Given the description of an element on the screen output the (x, y) to click on. 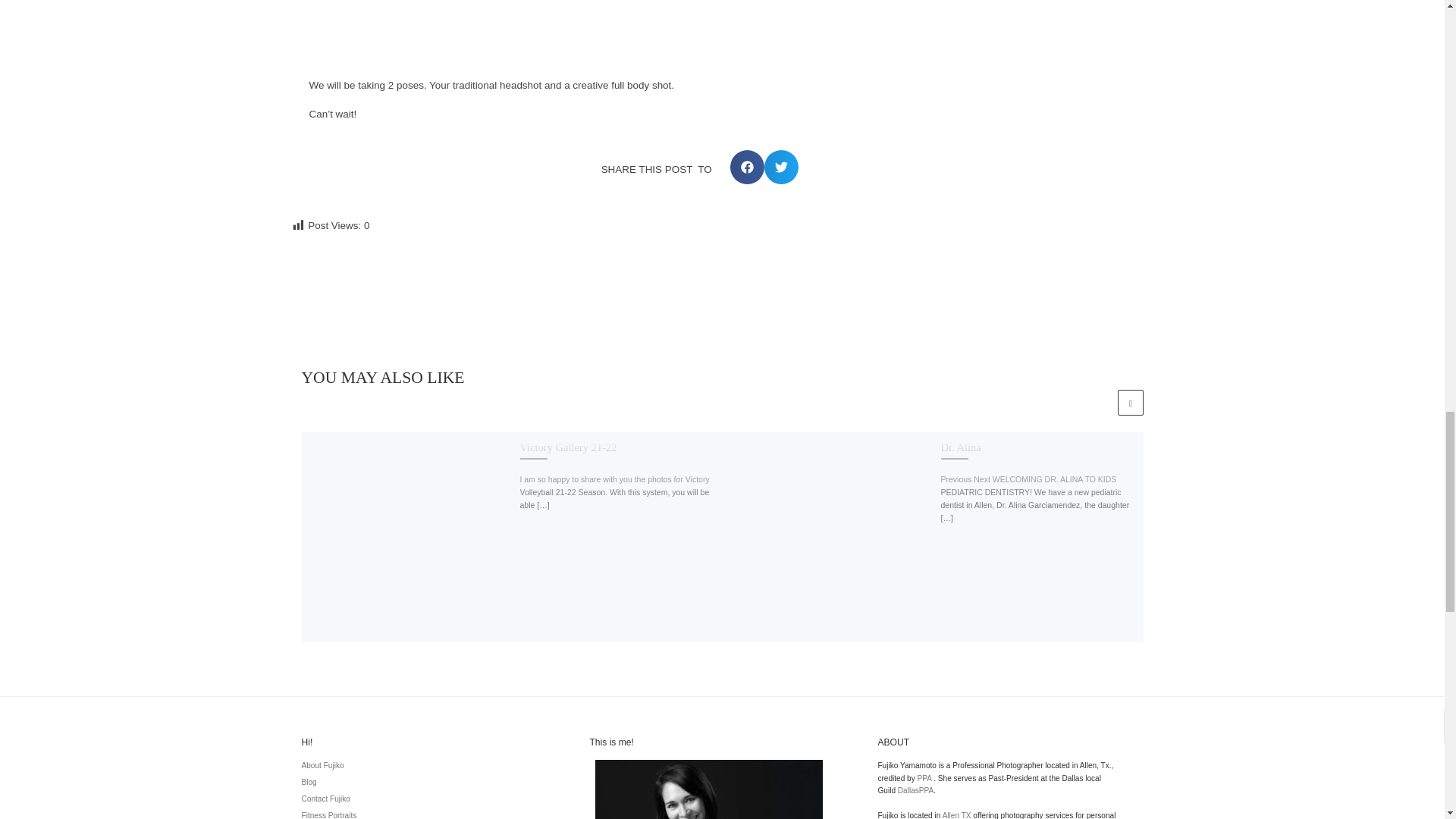
Professional Photographers of America (924, 777)
Next related articles (1130, 402)
Previous related articles (1102, 402)
Victory Gallery 21-22 (568, 447)
Dr. Alina (959, 447)
